Given the description of an element on the screen output the (x, y) to click on. 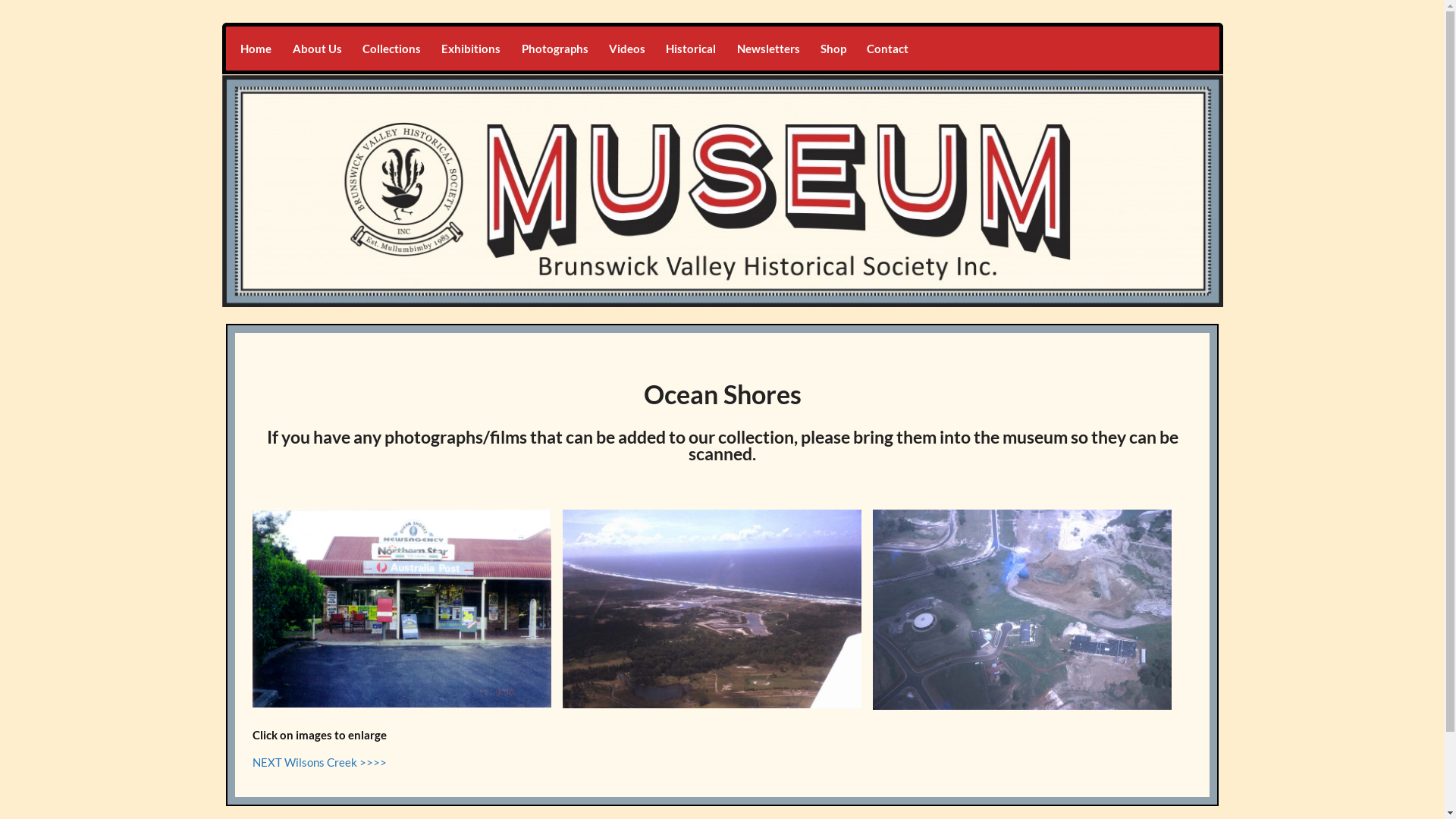
Exhibitions Element type: text (471, 48)
Photographs Element type: text (554, 48)
Shop Element type: text (832, 48)
Historical Element type: text (690, 48)
Videos Element type: text (626, 48)
Collections Element type: text (390, 48)
About Us Element type: text (316, 48)
NEXT Wilsons Creek >>>> Element type: text (319, 761)
Newsletters Element type: text (767, 48)
Home Element type: text (256, 48)
Contact Element type: text (887, 48)
Brunswick Valley Historical Society Inc Element type: text (471, 40)
